Given the description of an element on the screen output the (x, y) to click on. 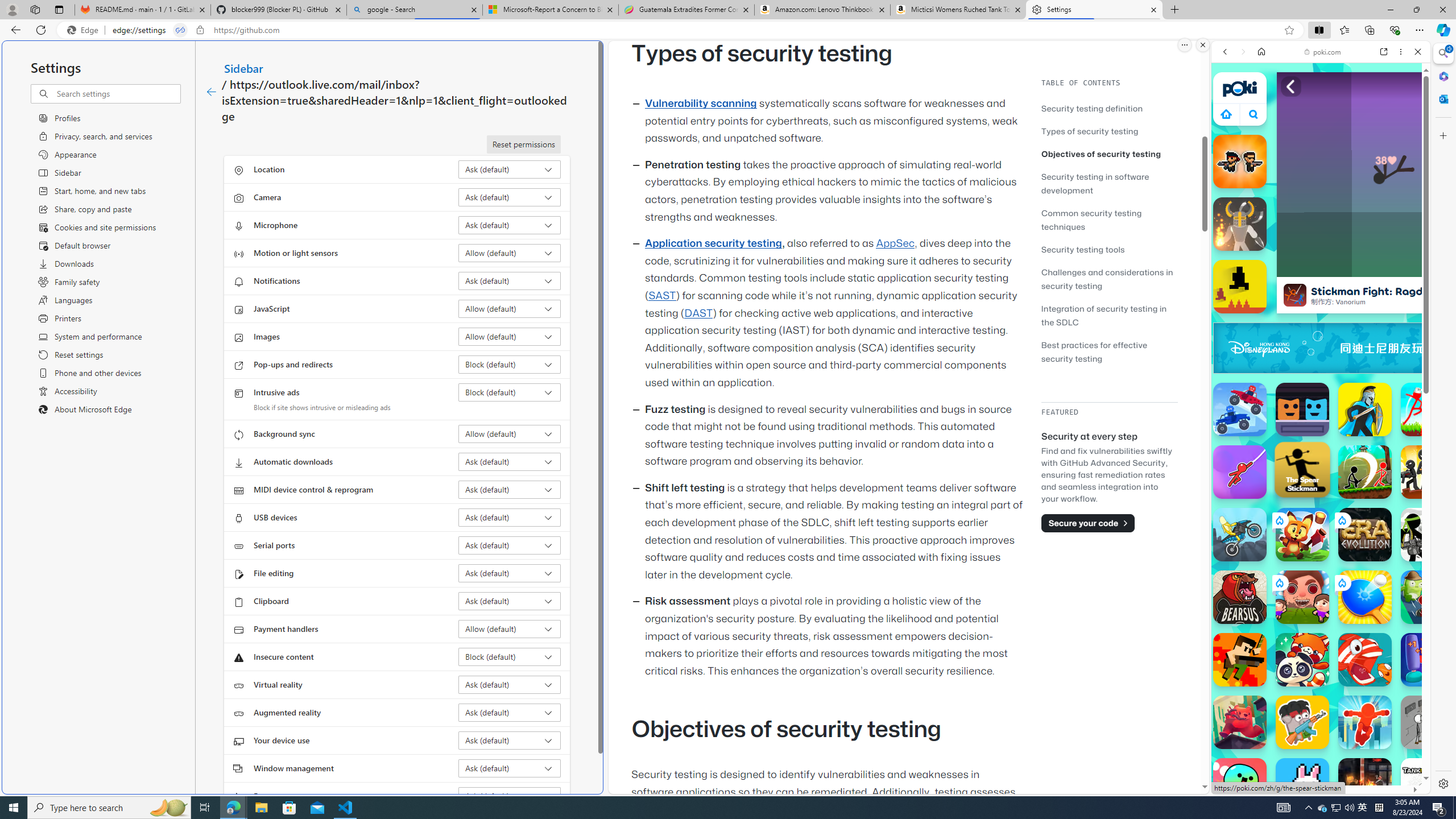
Battle Wheels Battle Wheels (1239, 409)
USB devices Ask (default) (509, 517)
Security testing in software development (1109, 183)
Outlook (1442, 98)
Show More Shooting Games (1390, 296)
Search settings (117, 93)
Search results from poki.com (1299, 443)
Bearsus (1239, 597)
The Spear Stickman The Spear Stickman (1302, 469)
Fleeing the Complex Fleeing the Complex (1427, 722)
Eat the world (1302, 597)
